Given the description of an element on the screen output the (x, y) to click on. 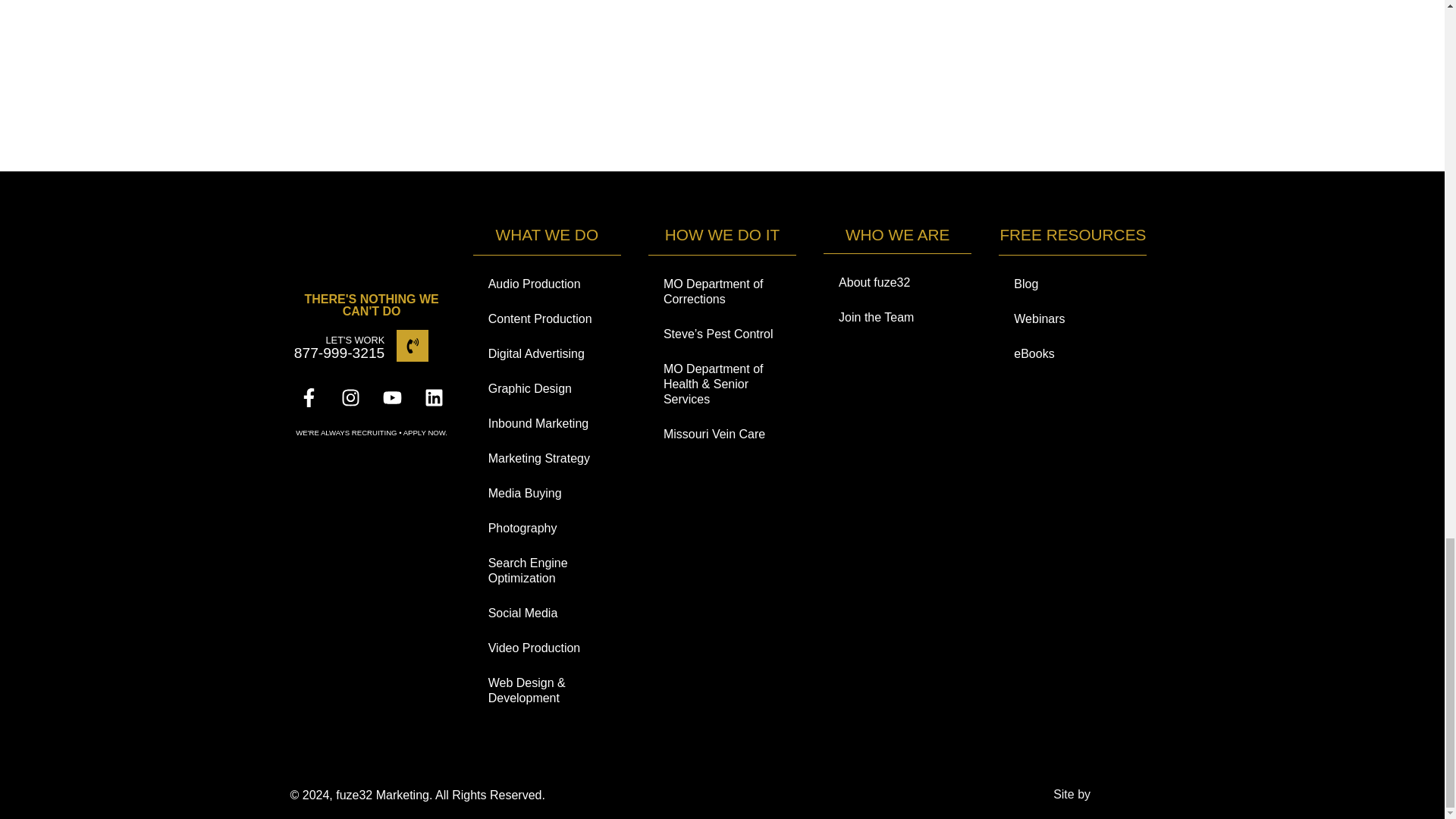
fuze32logo (370, 250)
